Given the description of an element on the screen output the (x, y) to click on. 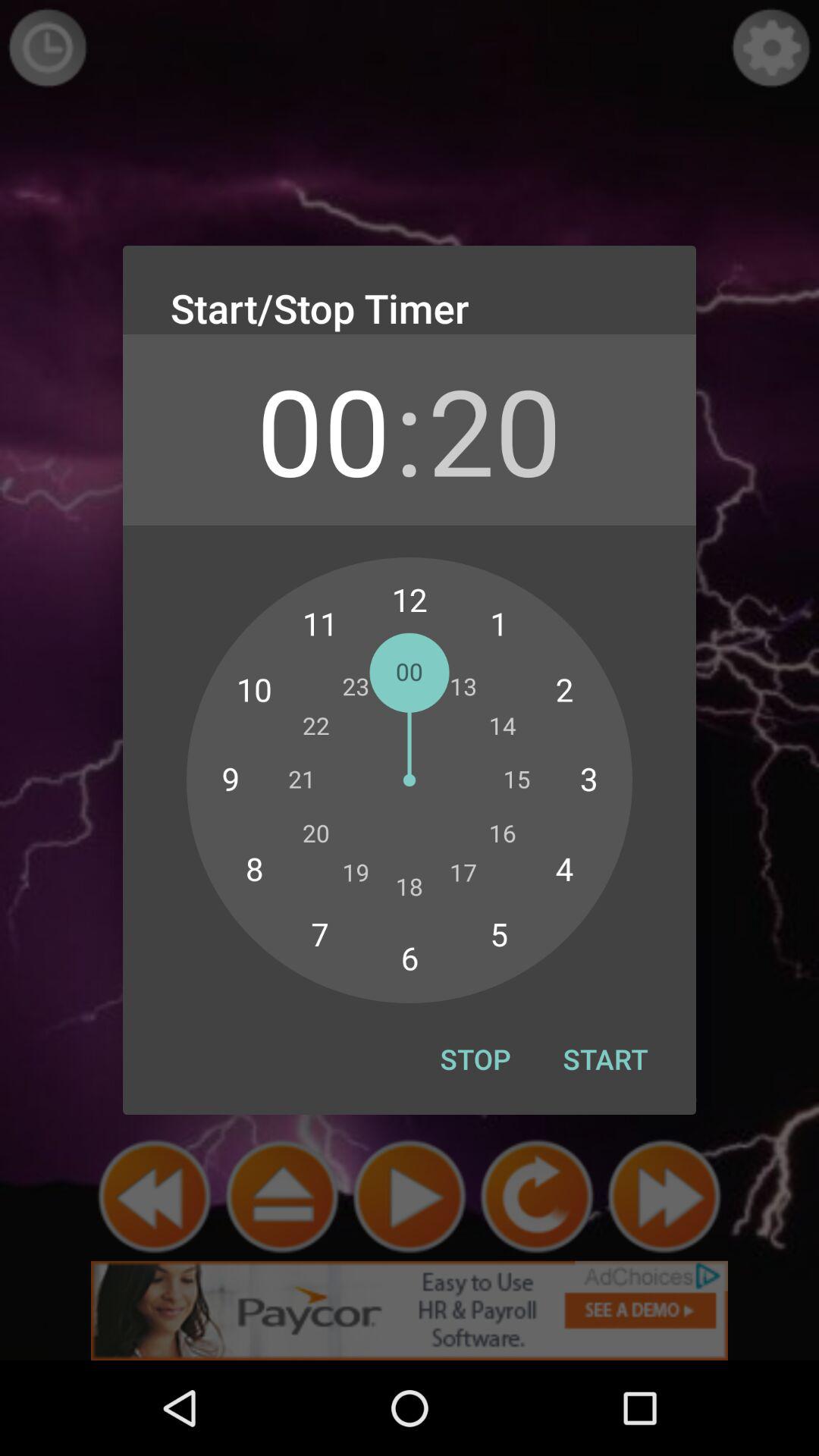
choose the icon below start/stop timer item (323, 429)
